Given the description of an element on the screen output the (x, y) to click on. 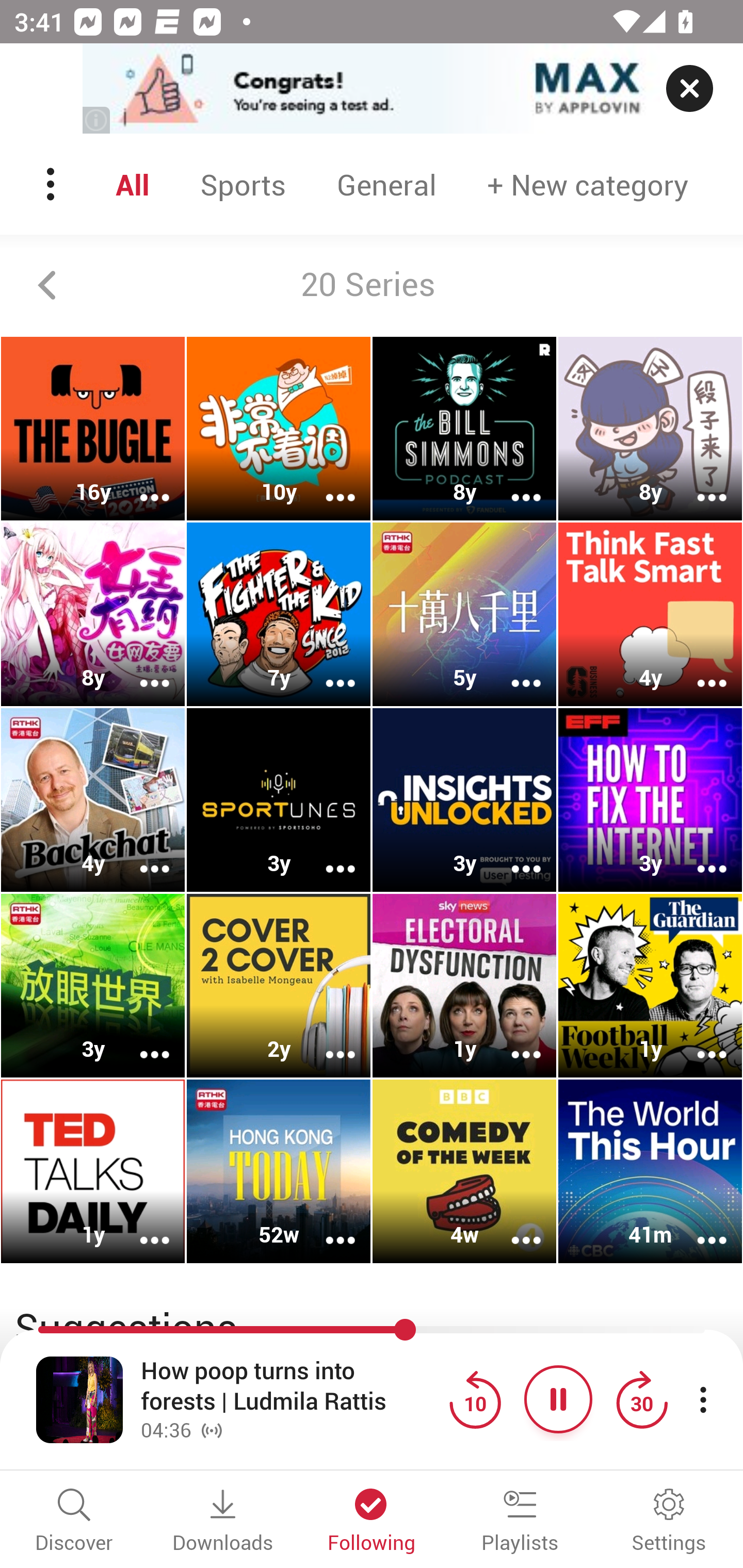
app-monetization (371, 88)
(i) (96, 119)
Menu (52, 184)
All (132, 184)
Sports (242, 184)
General (386, 184)
New category + New category (588, 184)
20 Series (371, 285)
The Bugle 16y More options More options (92, 428)
非常不着调 10y More options More options (278, 428)
段子来了 8y More options More options (650, 428)
More options (141, 484)
More options (326, 484)
More options (512, 484)
More options (698, 484)
女王有药丨爆笑脱口秀 8y More options More options (92, 614)
The Fighter & The Kid 7y More options More options (278, 614)
十萬八千里 5y More options More options (464, 614)
More options (141, 669)
More options (326, 669)
More options (512, 669)
More options (698, 669)
Backchat 4y More options More options (92, 799)
Sportunes HK 3y More options More options (278, 799)
Insights Unlocked 3y More options More options (464, 799)
More options (141, 856)
More options (326, 856)
More options (512, 856)
More options (698, 856)
放眼世界 3y More options More options (92, 985)
Cover 2 Cover 2y More options More options (278, 985)
Electoral Dysfunction 1y More options More options (464, 985)
Football Weekly 1y More options More options (650, 985)
More options (141, 1041)
More options (326, 1041)
More options (512, 1041)
More options (698, 1041)
TED Talks Daily 1y More options More options (92, 1170)
Hong Kong Today 52w More options More options (278, 1170)
Comedy of the Week 4w More options More options (464, 1170)
The World This Hour 41m More options More options (650, 1170)
More options (141, 1227)
More options (326, 1227)
More options (512, 1227)
More options (698, 1227)
Open fullscreen player (79, 1399)
More player controls (703, 1399)
How poop turns into forests | Ludmila Rattis (290, 1385)
Pause button (558, 1398)
Jump back (475, 1399)
Jump forward (641, 1399)
Discover (74, 1521)
Downloads (222, 1521)
Following (371, 1521)
Playlists (519, 1521)
Settings (668, 1521)
